Given the description of an element on the screen output the (x, y) to click on. 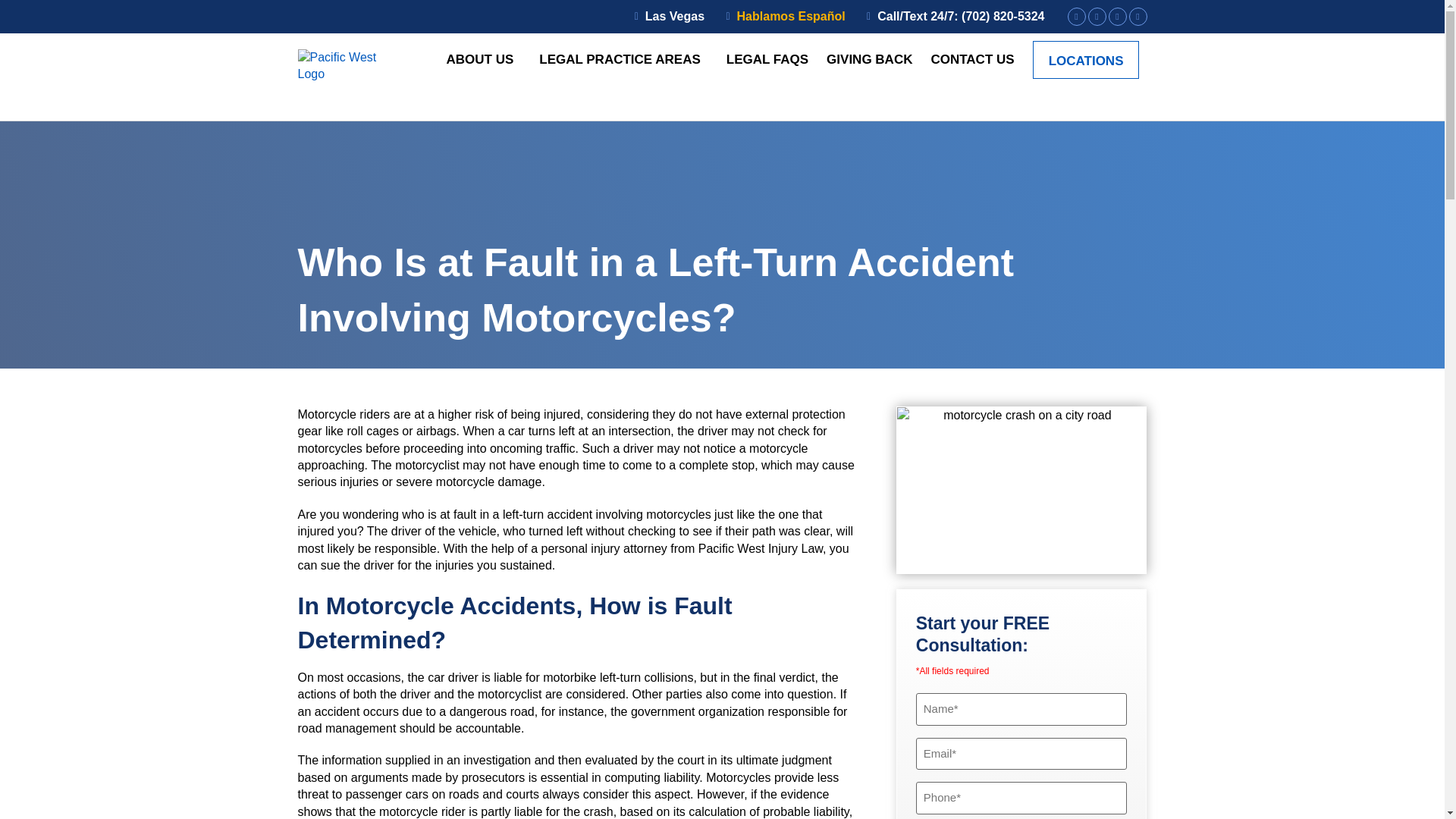
ABOUT US (483, 59)
CONTACT US (971, 59)
LOCATIONS (1086, 59)
GIVING BACK (869, 59)
LEGAL FAQS (767, 59)
Las Vegas (664, 16)
LEGAL PRACTICE AREAS (622, 59)
